Given the description of an element on the screen output the (x, y) to click on. 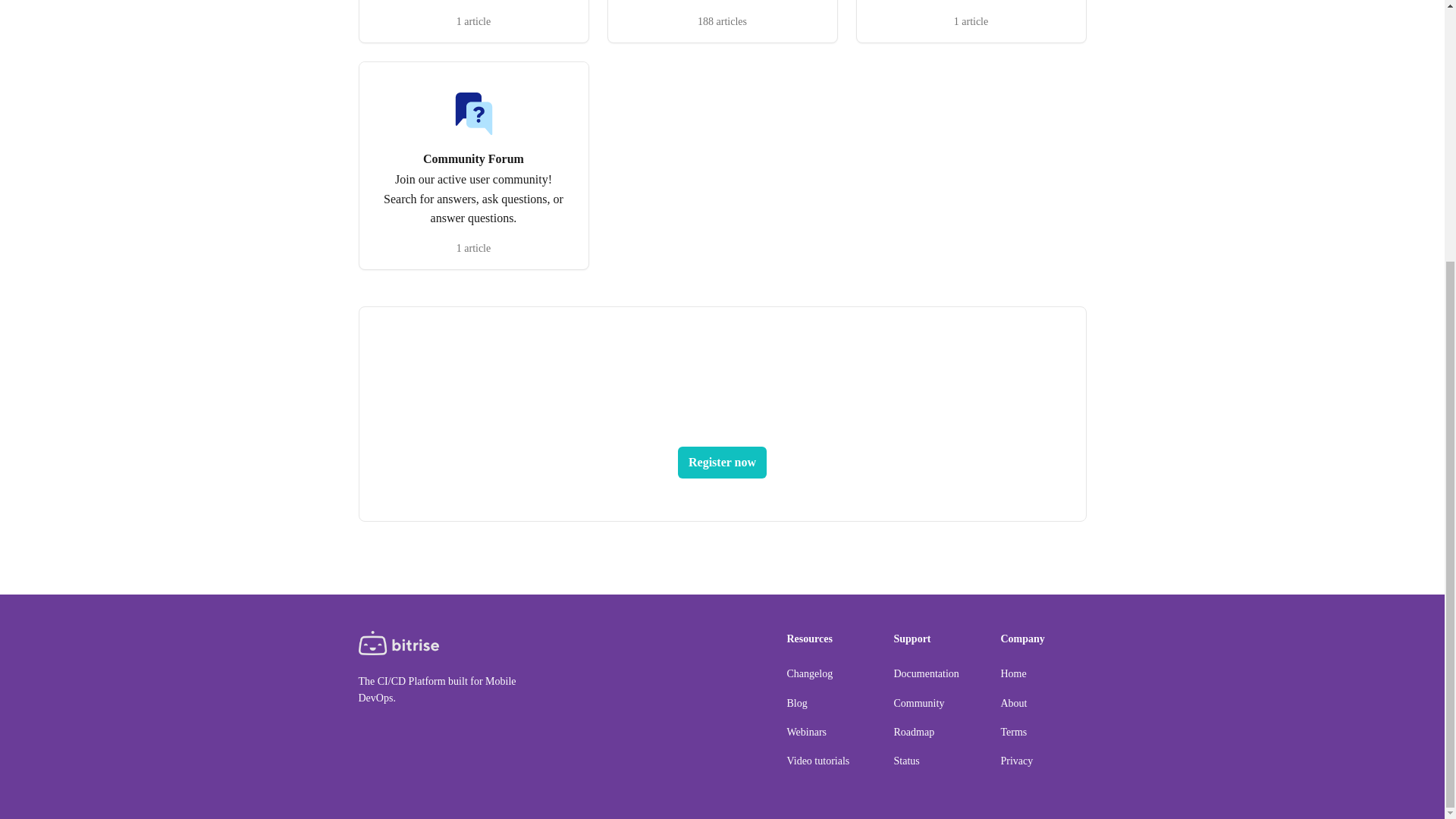
Home (1013, 673)
Register now (722, 462)
Privacy (1017, 760)
Documentation (925, 673)
Terms (1014, 731)
Blog (797, 703)
Webinars (807, 731)
Changelog (809, 673)
